Given the description of an element on the screen output the (x, y) to click on. 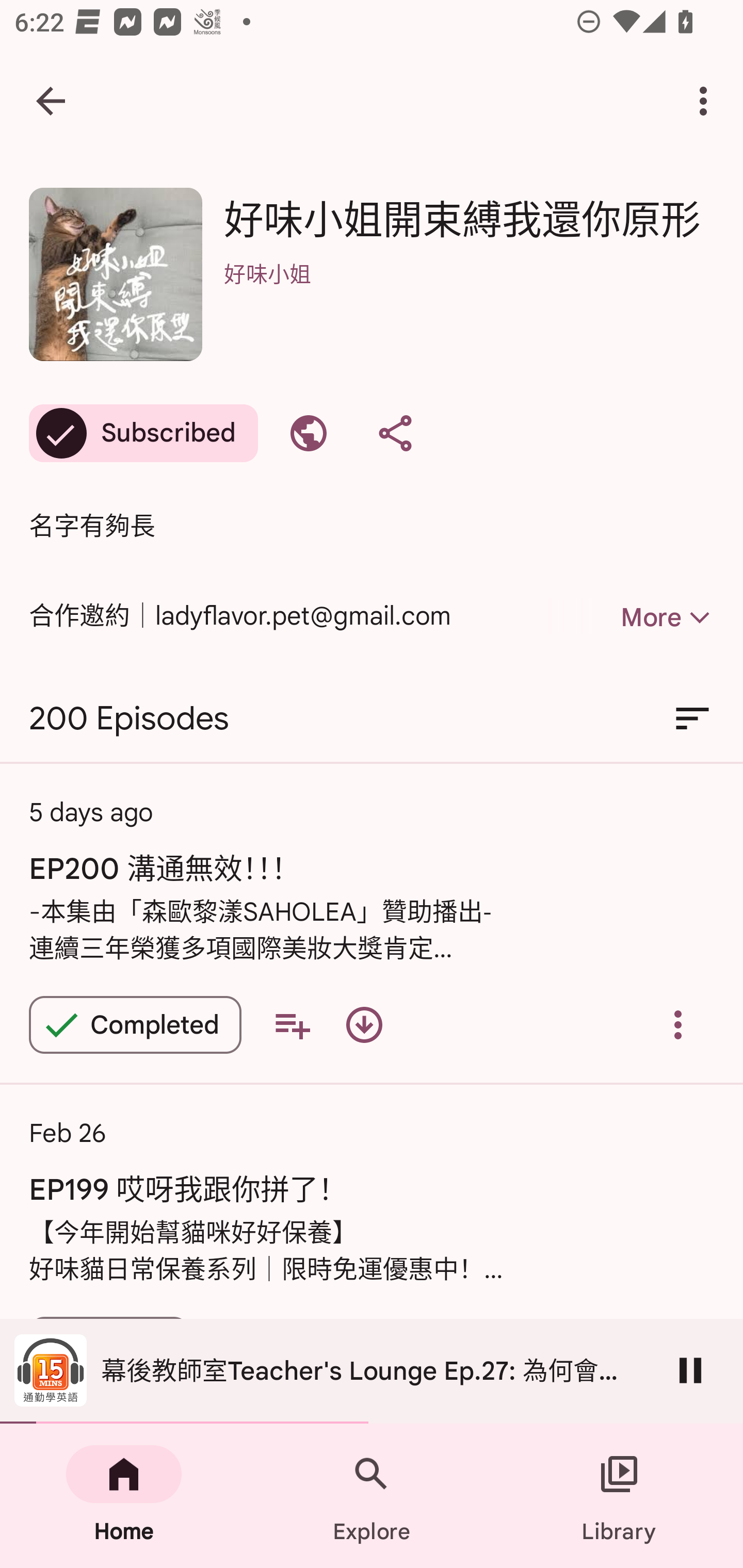
Navigate up (50, 101)
More options (706, 101)
好味小姐 (468, 300)
Subscribed (142, 433)
Visit website (308, 433)
Share (395, 433)
More (631, 616)
Sort (692, 718)
Play episode EP200 溝通無效！！！ Completed (134, 1024)
Add to your queue (291, 1024)
Download episode (364, 1024)
Overflow menu (677, 1024)
Pause (690, 1370)
Explore (371, 1495)
Library (619, 1495)
